Given the description of an element on the screen output the (x, y) to click on. 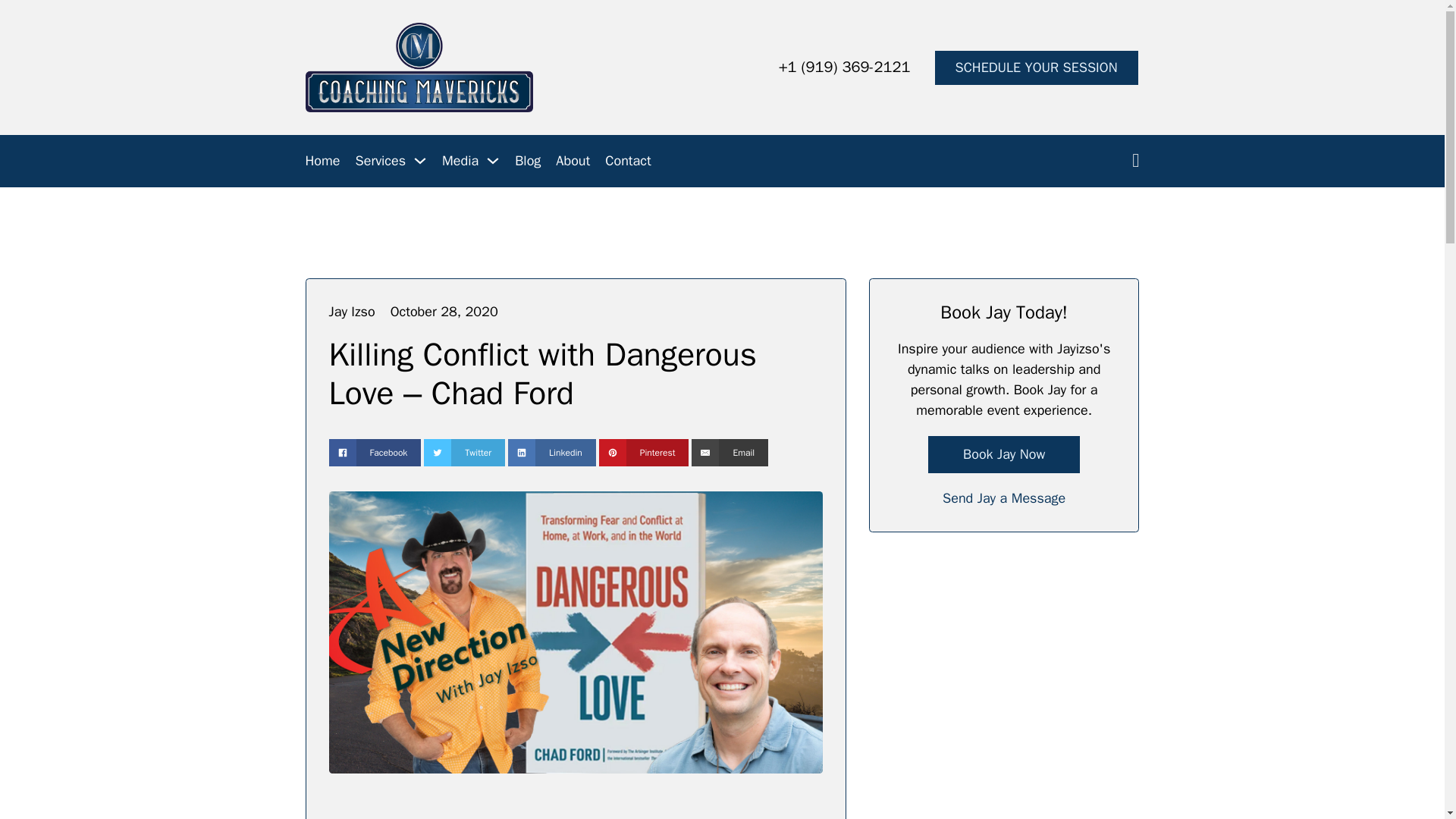
Services (380, 160)
About (572, 160)
Home (321, 160)
Media (460, 160)
Blubrry Podcast Player (575, 809)
SCHEDULE YOUR SESSION (1036, 67)
Blog (527, 160)
Contact (627, 160)
